Given the description of an element on the screen output the (x, y) to click on. 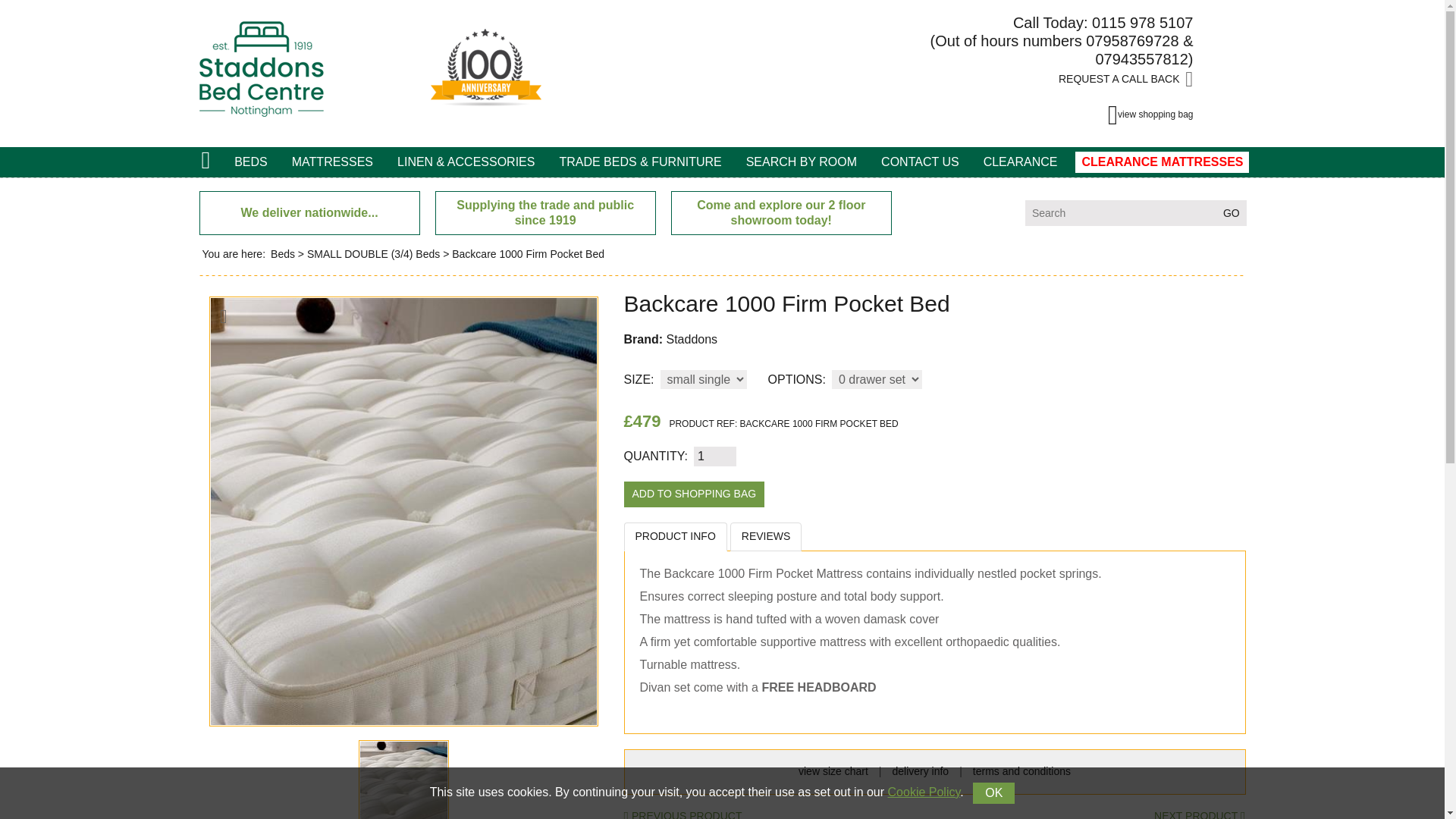
Add to Shopping Bag (693, 493)
REQUEST A CALL BACK (1125, 79)
BEDS (250, 161)
view shopping bag (1150, 114)
MATTRESSES (331, 161)
GO (1230, 212)
1 (715, 456)
